Given the description of an element on the screen output the (x, y) to click on. 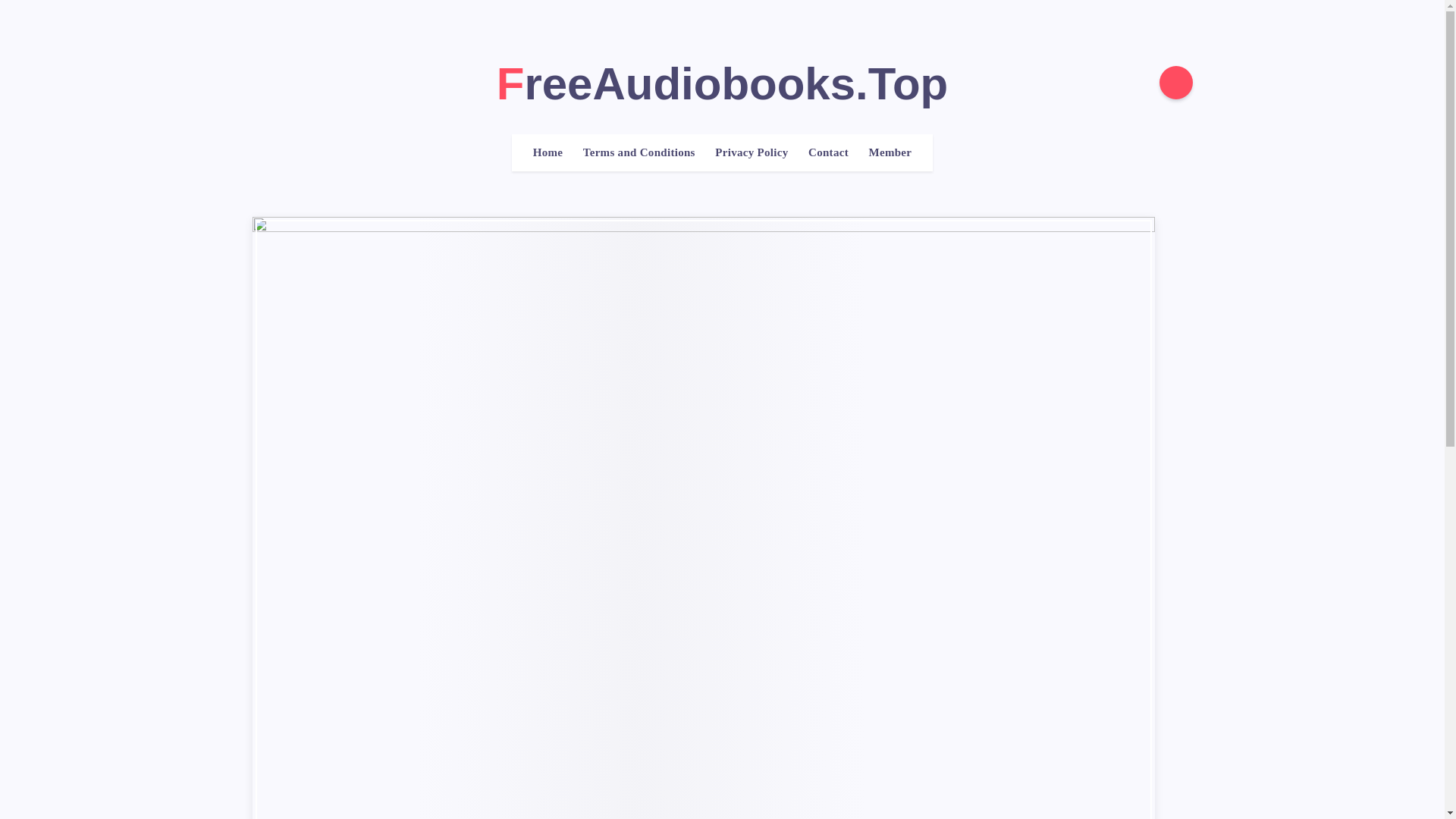
Member (889, 152)
FreeAudiobooks.Top (722, 83)
Home (547, 152)
Privacy Policy (750, 152)
Contact (828, 152)
Terms and Conditions (639, 152)
